Given the description of an element on the screen output the (x, y) to click on. 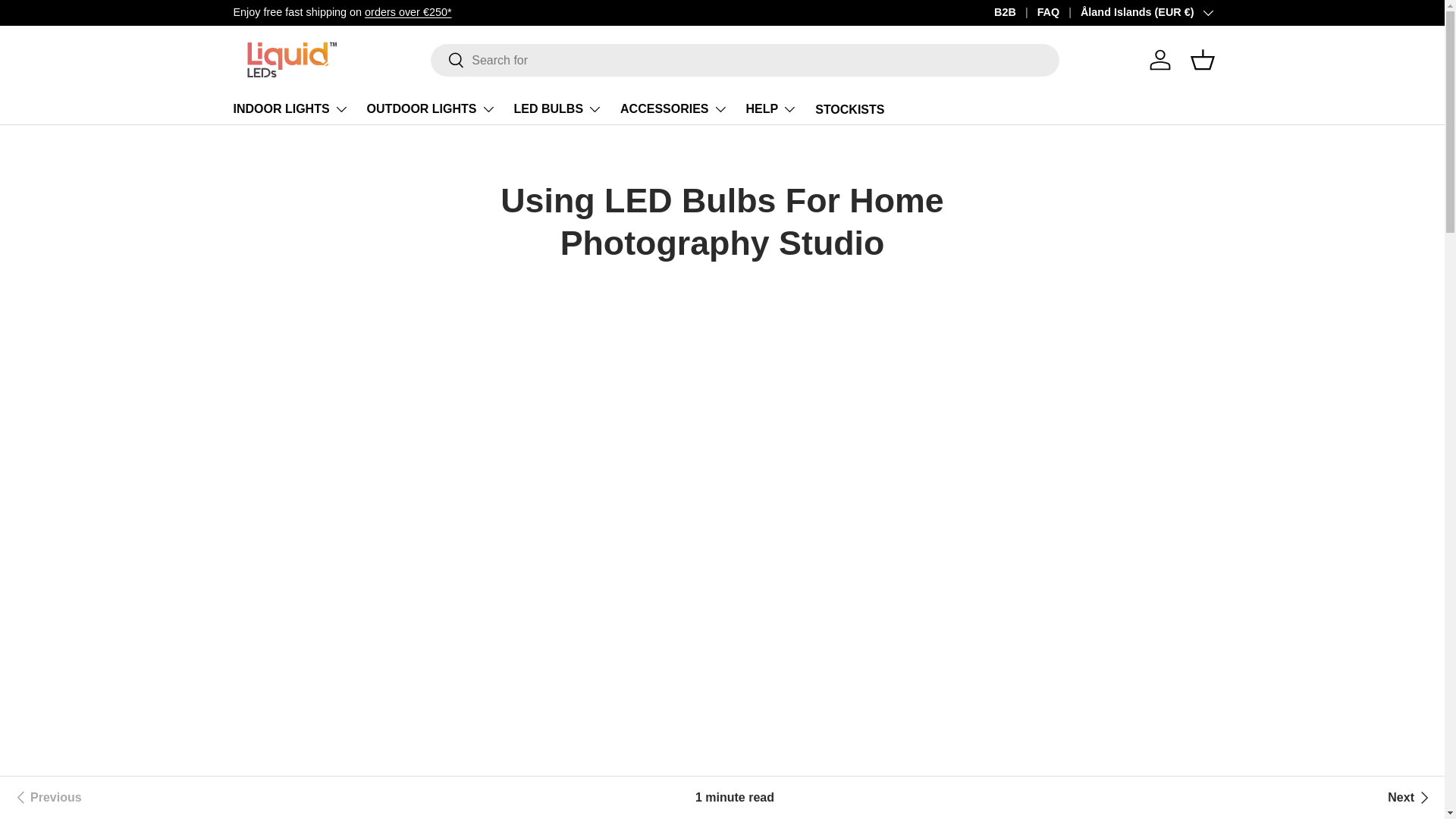
LED BULBS (557, 109)
Returns Policy (1167, 11)
OUTDOOR LIGHTS (431, 109)
Shipping To Europe (408, 11)
B2B (1015, 12)
FAQ (1058, 12)
Skip to content (69, 21)
Basket (1203, 59)
INDOOR LIGHTS (290, 109)
Log in (1159, 59)
